Given the description of an element on the screen output the (x, y) to click on. 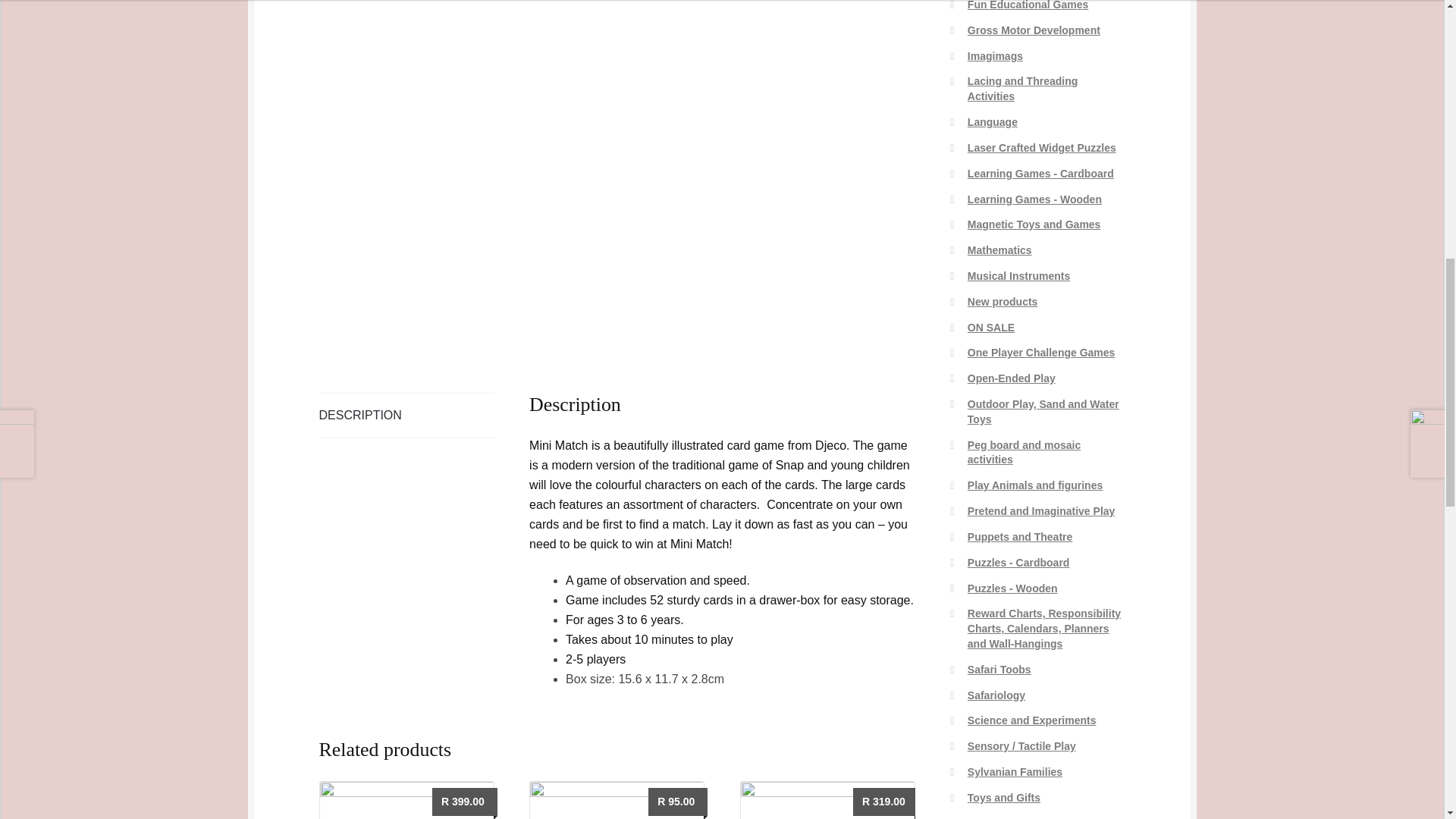
DESCRIPTION (616, 800)
